Given the description of an element on the screen output the (x, y) to click on. 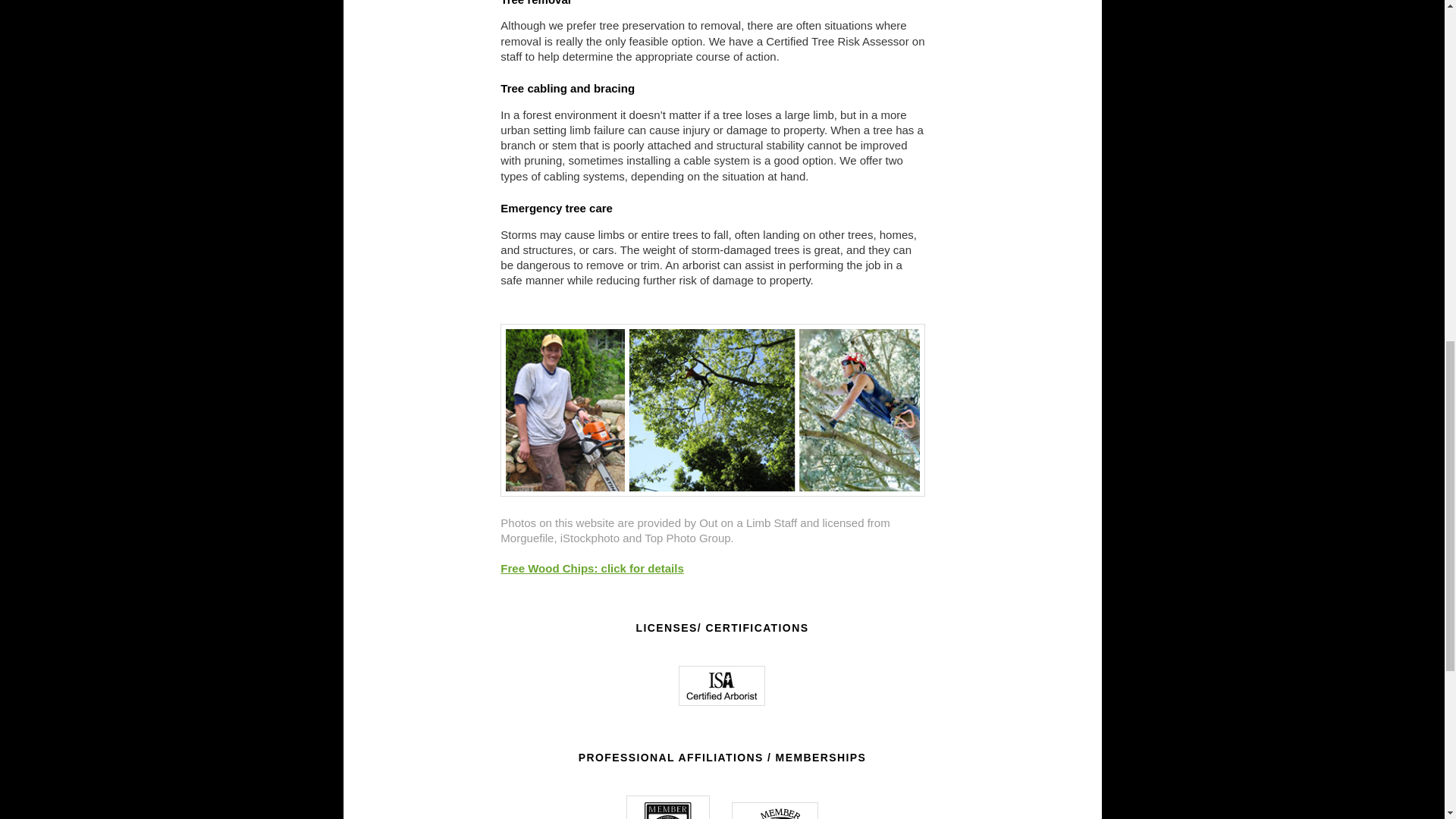
Tree Care Industry Association (775, 810)
International Society of Arboriculture (721, 685)
Free Wood Chips: click for details (591, 567)
International Society of Arboriculture (668, 807)
